Given the description of an element on the screen output the (x, y) to click on. 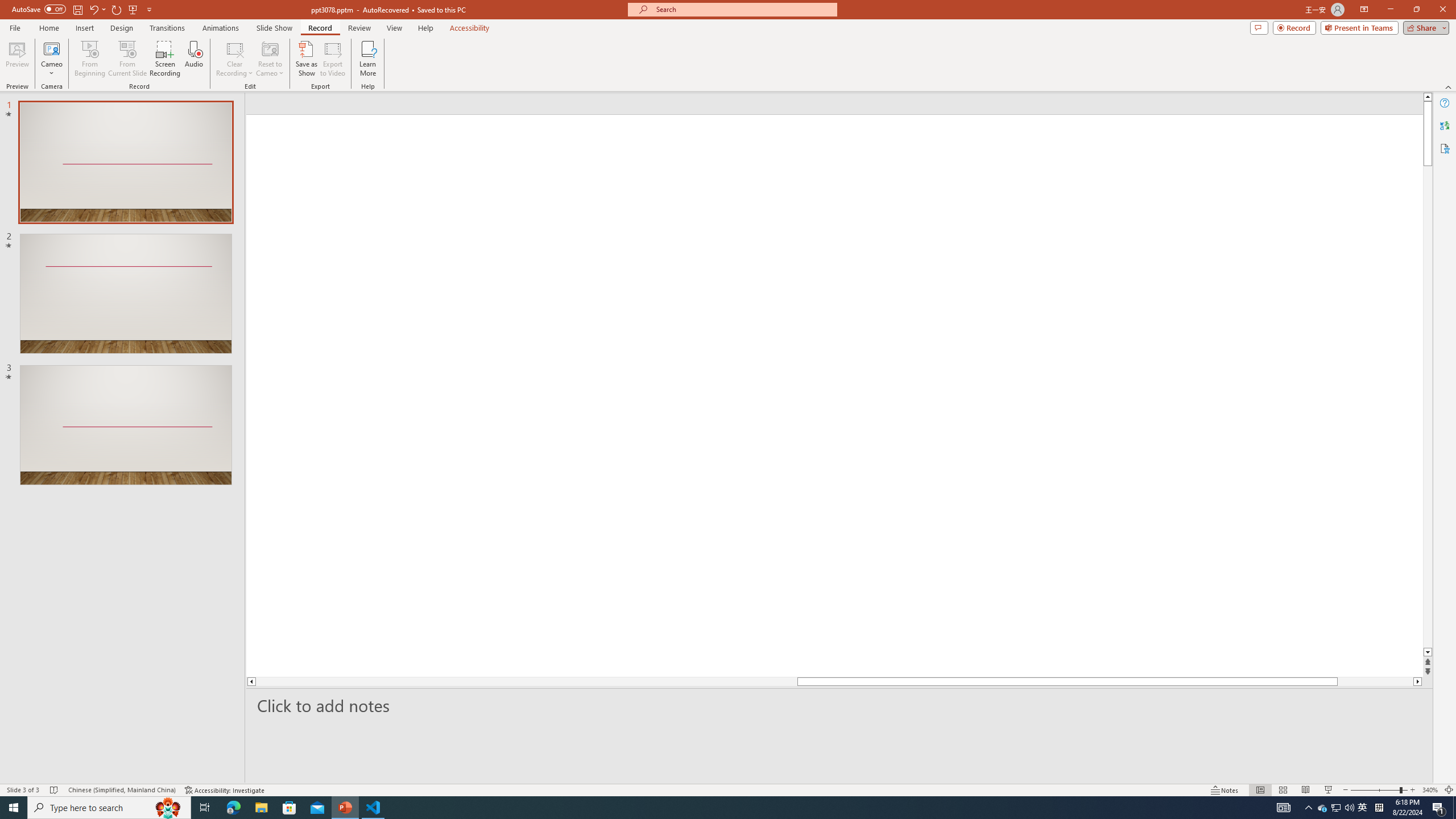
Zoom 340% (1430, 790)
Clear Recording (234, 58)
From Beginning... (89, 58)
